Given the description of an element on the screen output the (x, y) to click on. 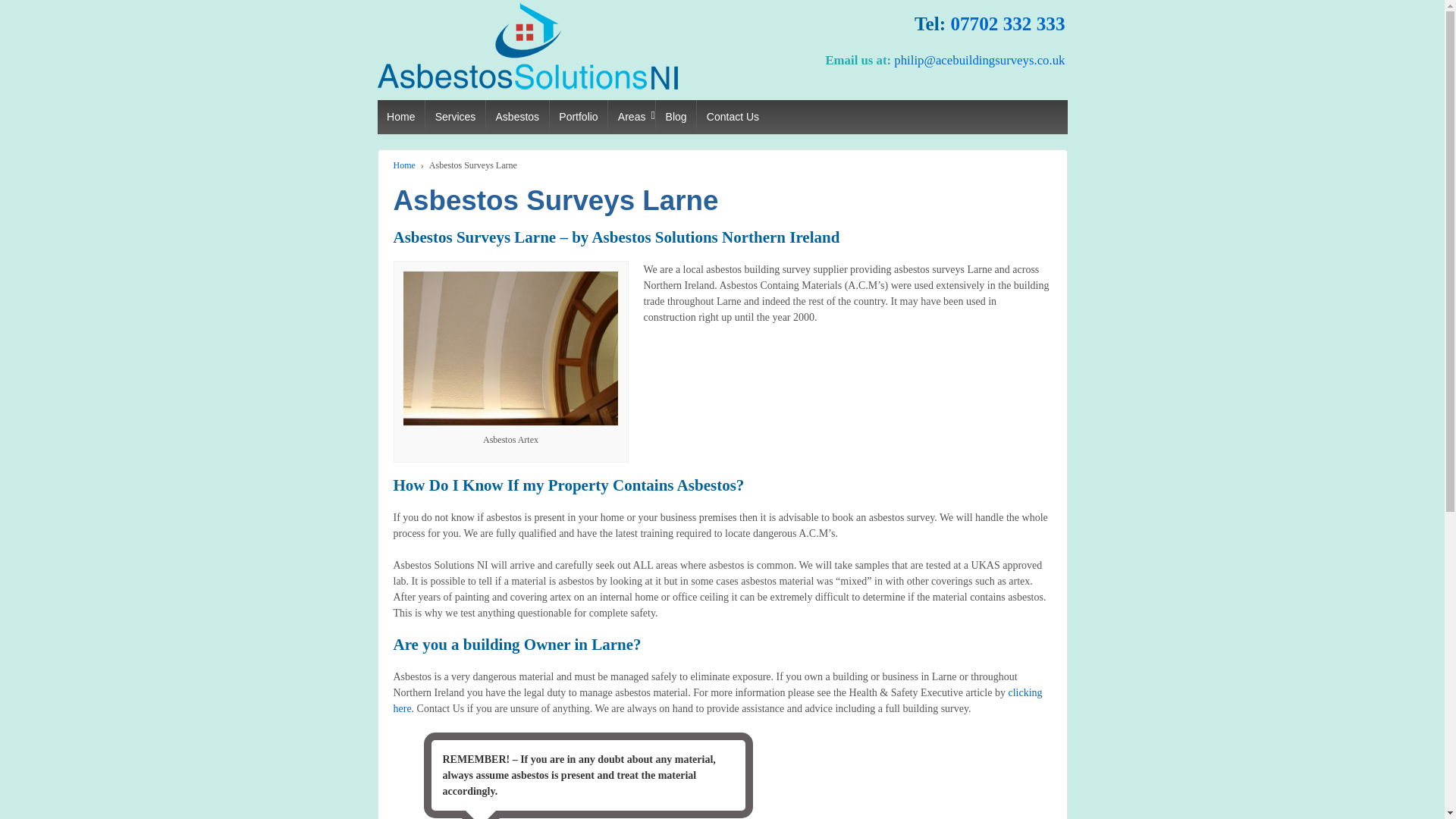
Blog (675, 116)
clicking here (717, 700)
07702 332 333 (1007, 23)
Services (454, 116)
Areas (631, 116)
Home (403, 164)
Home (401, 116)
Contact Us (731, 116)
Portfolio (578, 116)
Asbestos (516, 116)
